Given the description of an element on the screen output the (x, y) to click on. 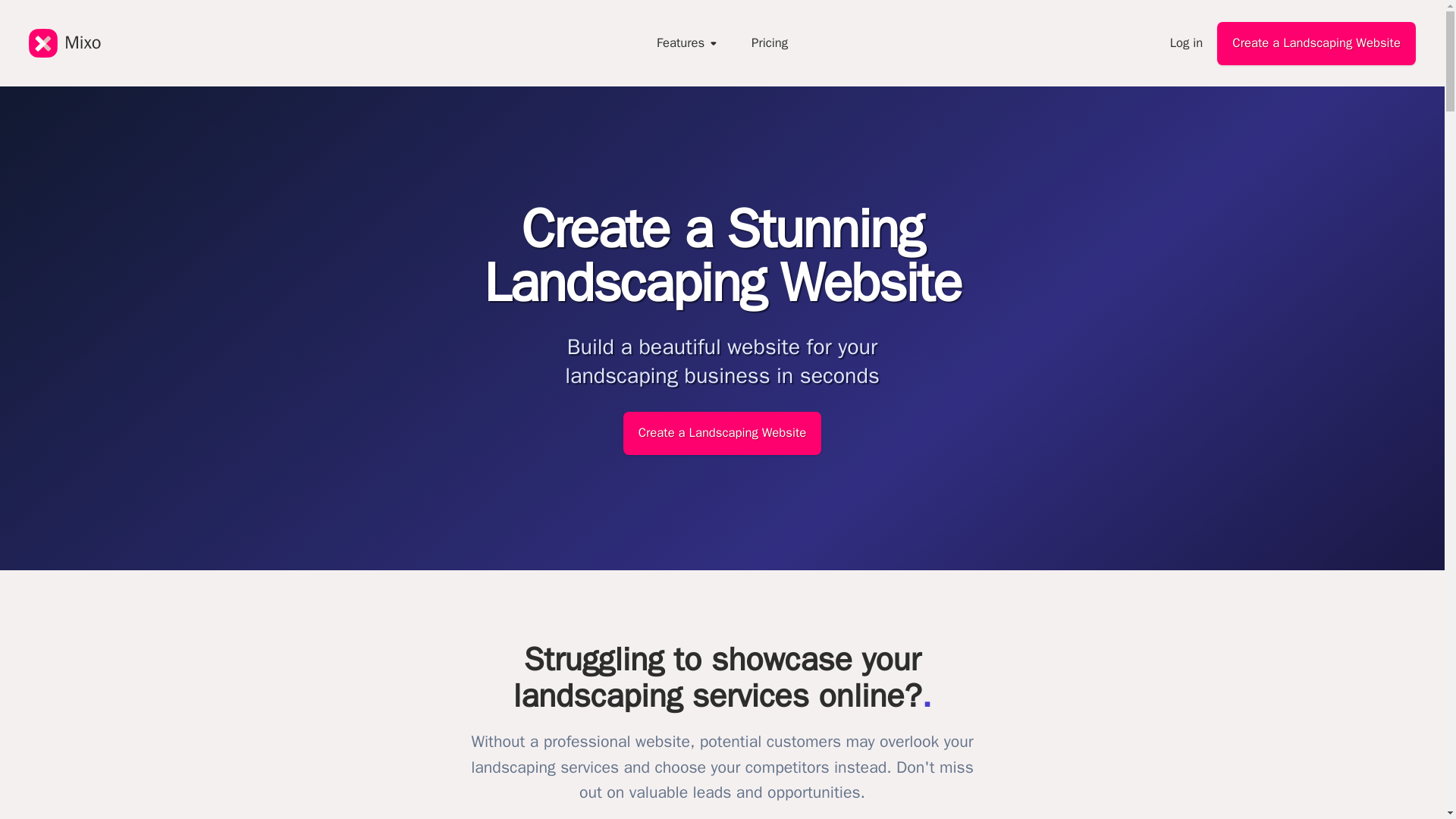
Create a Landscaping Website (1316, 43)
Log in (1187, 43)
Mixo (64, 43)
Pricing (769, 43)
Features (689, 43)
Create a Landscaping Website (722, 433)
